Given the description of an element on the screen output the (x, y) to click on. 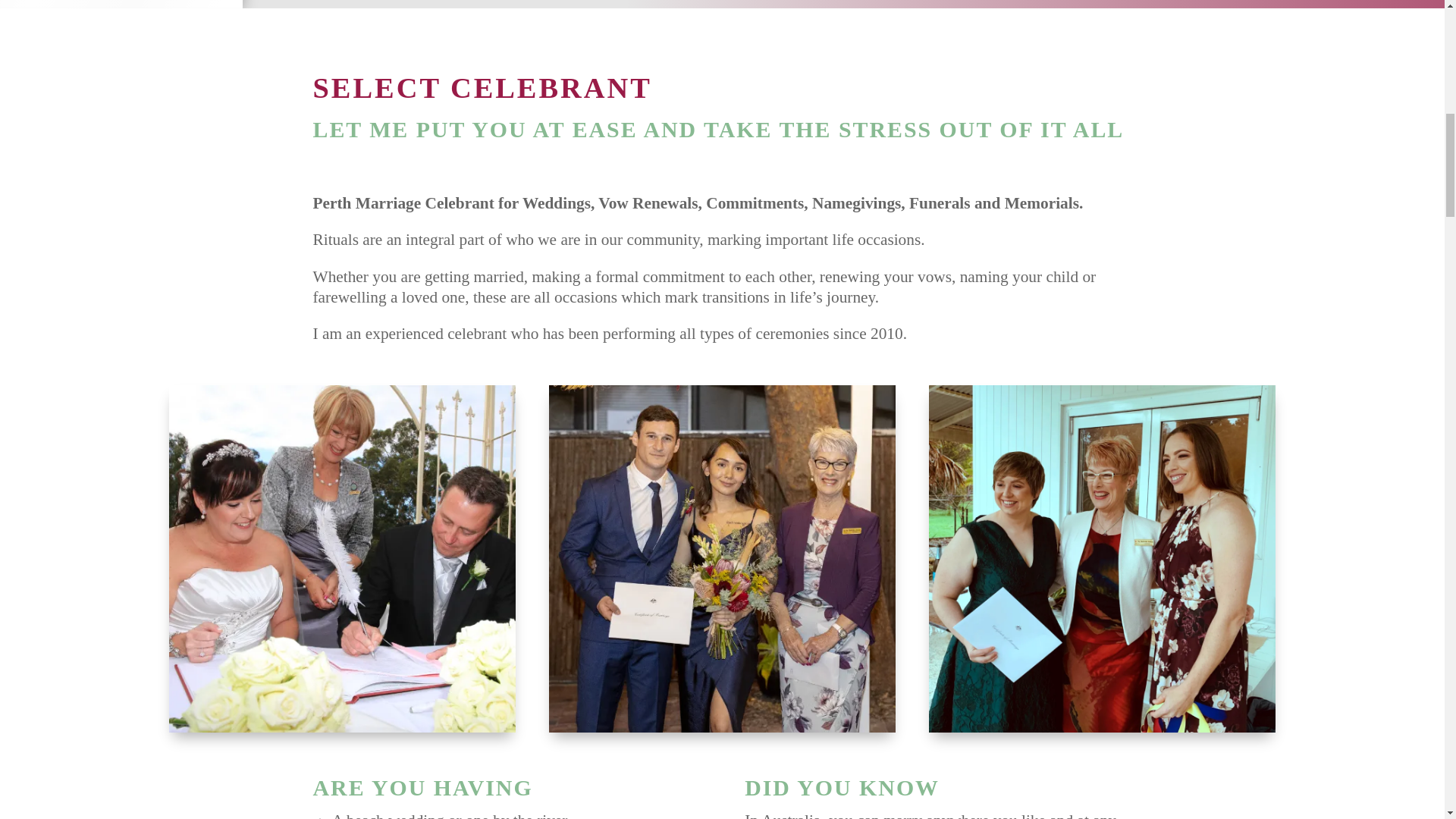
Select Celebrant (1101, 558)
Select Celebrant (721, 558)
Select Celebrant (341, 558)
